Given the description of an element on the screen output the (x, y) to click on. 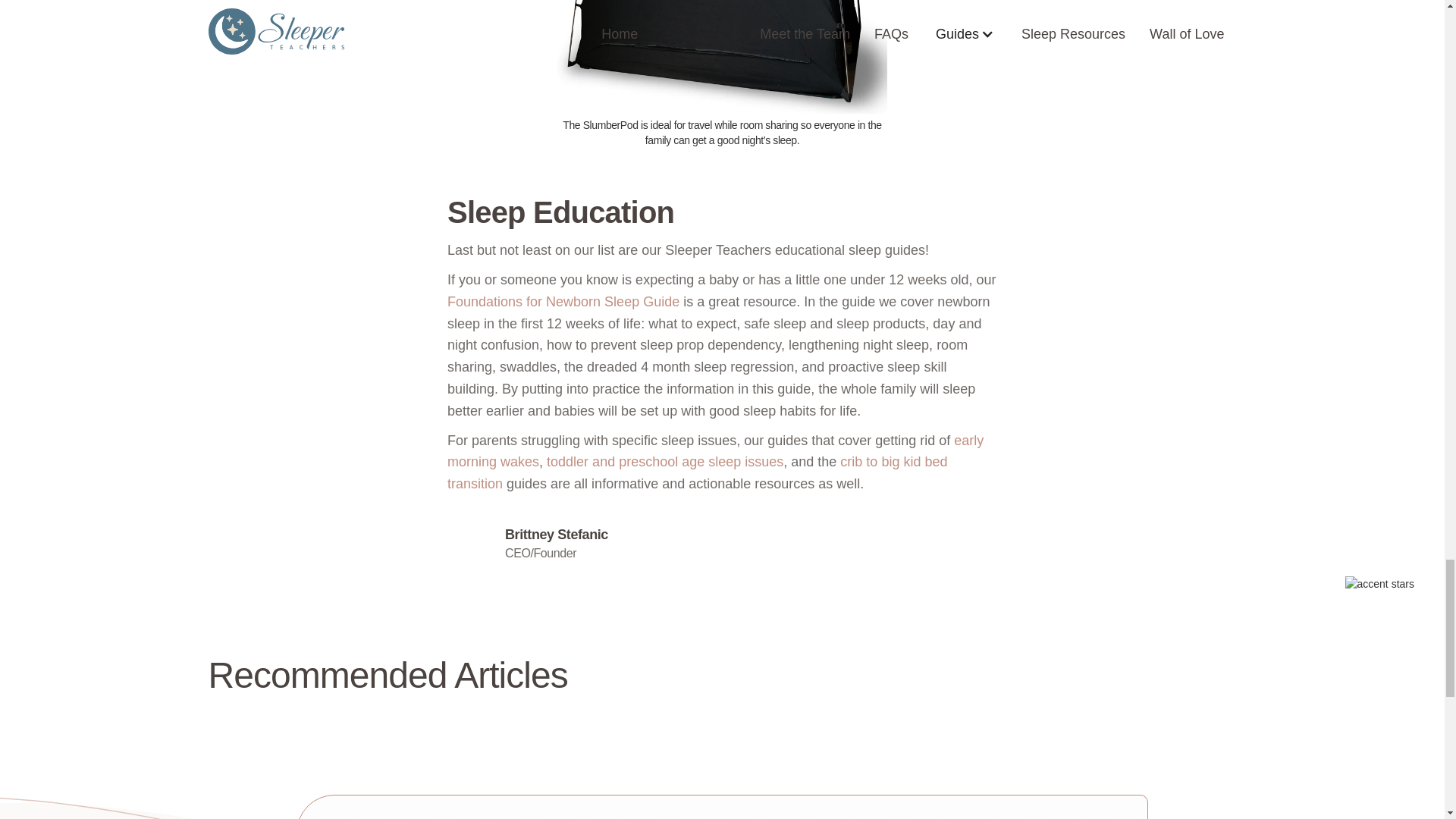
Foundations for Newborn Sleep Guide (562, 301)
toddler and preschool age sleep issues (665, 461)
crib to big kid bed transition (696, 472)
early morning wakes (715, 450)
